Given the description of an element on the screen output the (x, y) to click on. 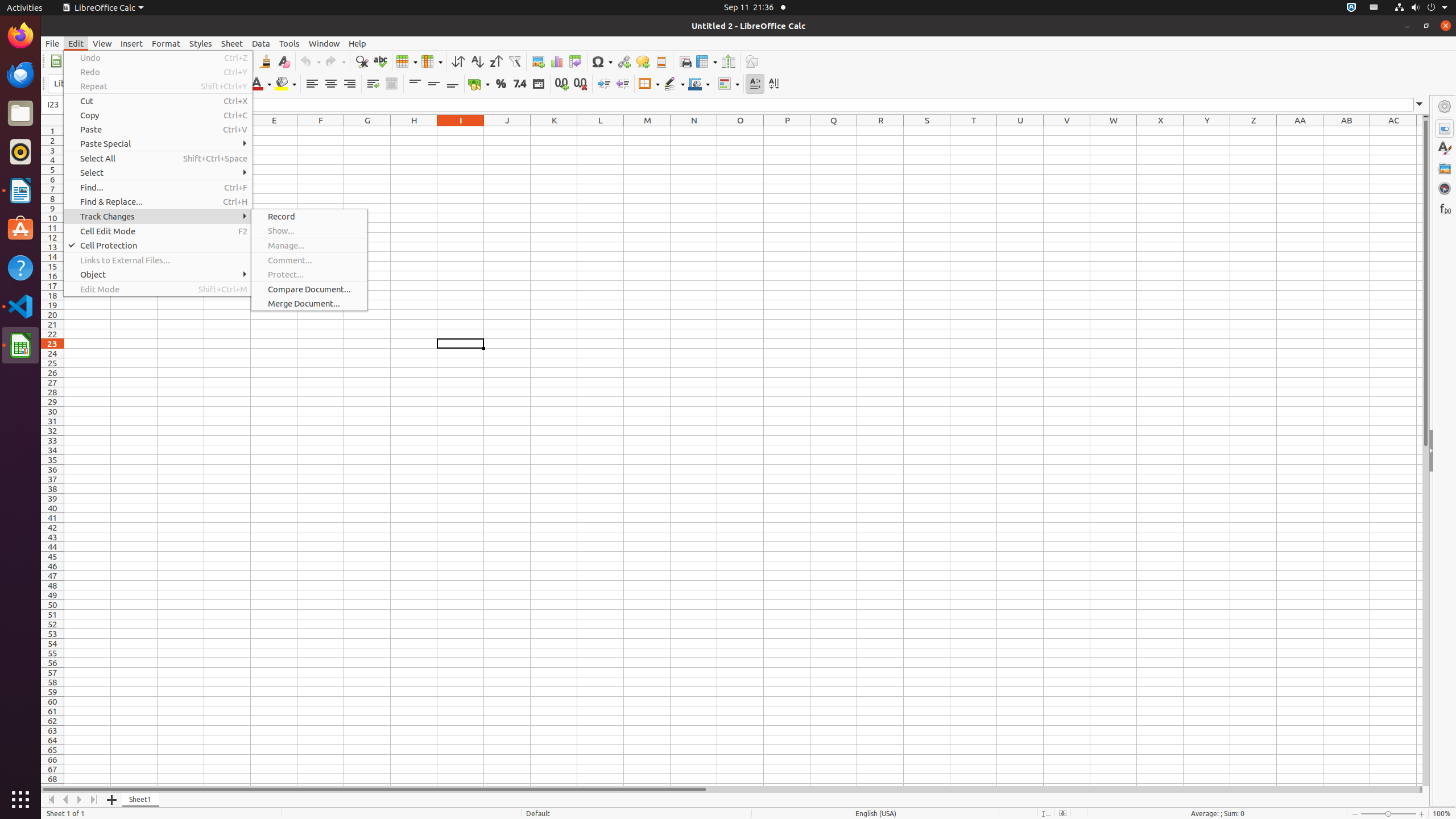
Select Element type: menu (157, 172)
Insert Element type: menu (131, 43)
Navigator Element type: radio-button (1444, 188)
Text direction from left to right Element type: toggle-button (754, 83)
